Given the description of an element on the screen output the (x, y) to click on. 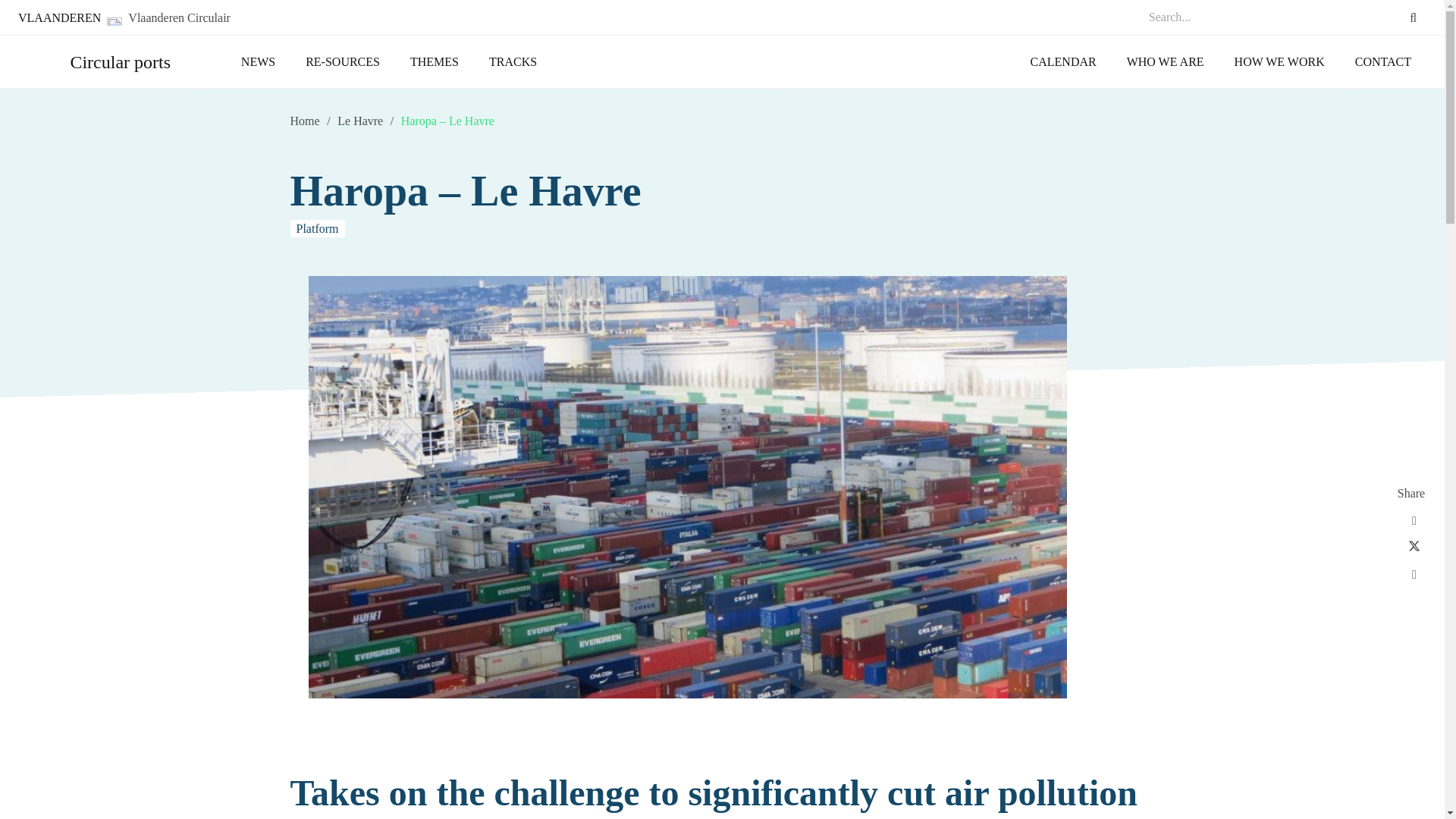
CALENDAR (1063, 62)
TRACKS (512, 62)
Le Havre (359, 120)
THEMES (434, 62)
WHO WE ARE (1166, 62)
Share this (1414, 520)
RE-SOURCES (341, 62)
Home (303, 120)
Circular ports (119, 62)
HOW WE WORK (1279, 62)
CONTACT (1382, 62)
Platform (316, 228)
NEWS (257, 62)
Share this (1414, 574)
Tweet this (1414, 548)
